Given the description of an element on the screen output the (x, y) to click on. 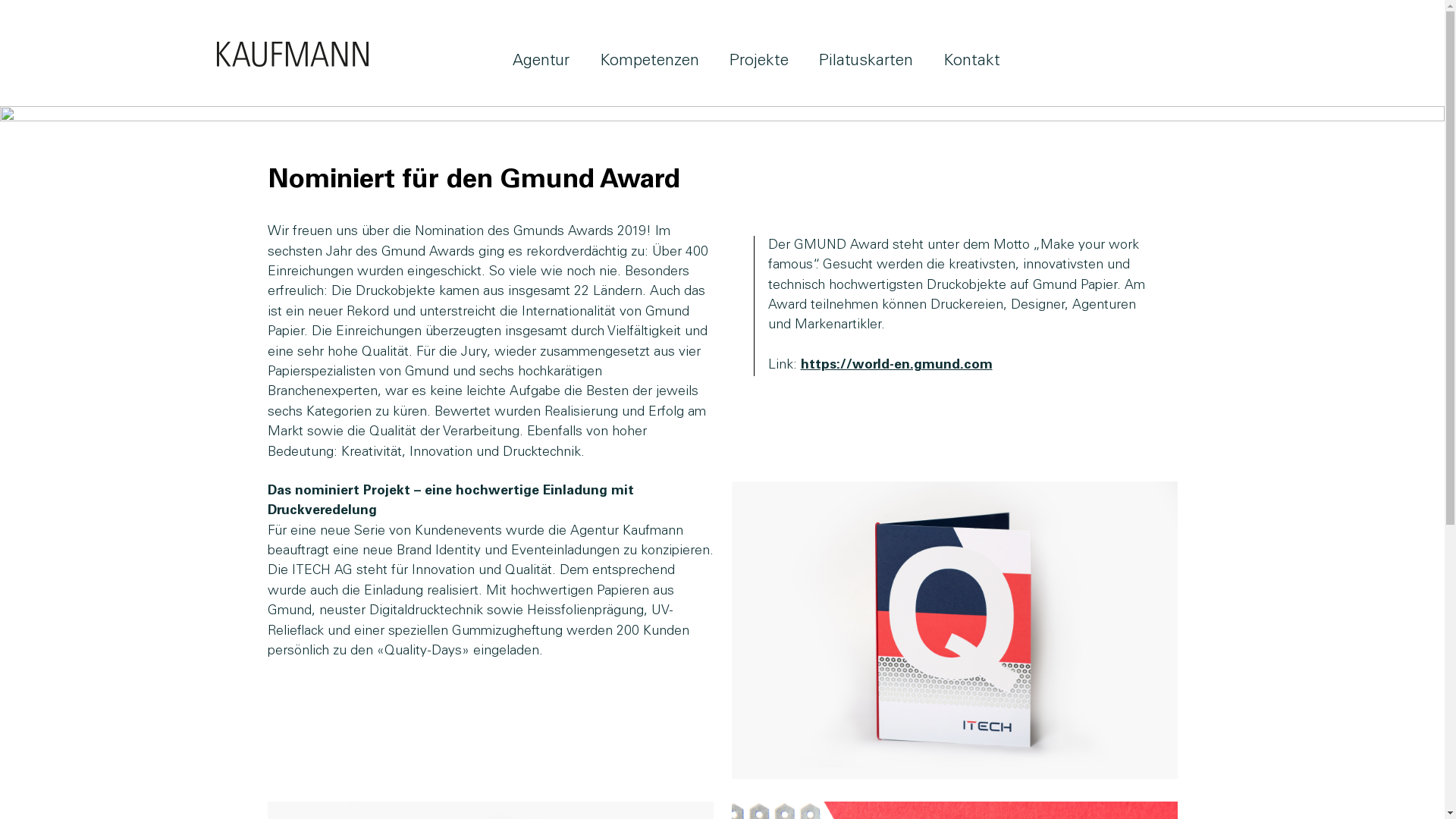
Kompetenzen Element type: text (649, 59)
Pilatuskarten Element type: text (866, 59)
Kontakt Element type: text (971, 59)
Projekte Element type: text (758, 59)
Agentur Element type: text (540, 59)
https://world-en.gmund.com Element type: text (896, 365)
